Given the description of an element on the screen output the (x, y) to click on. 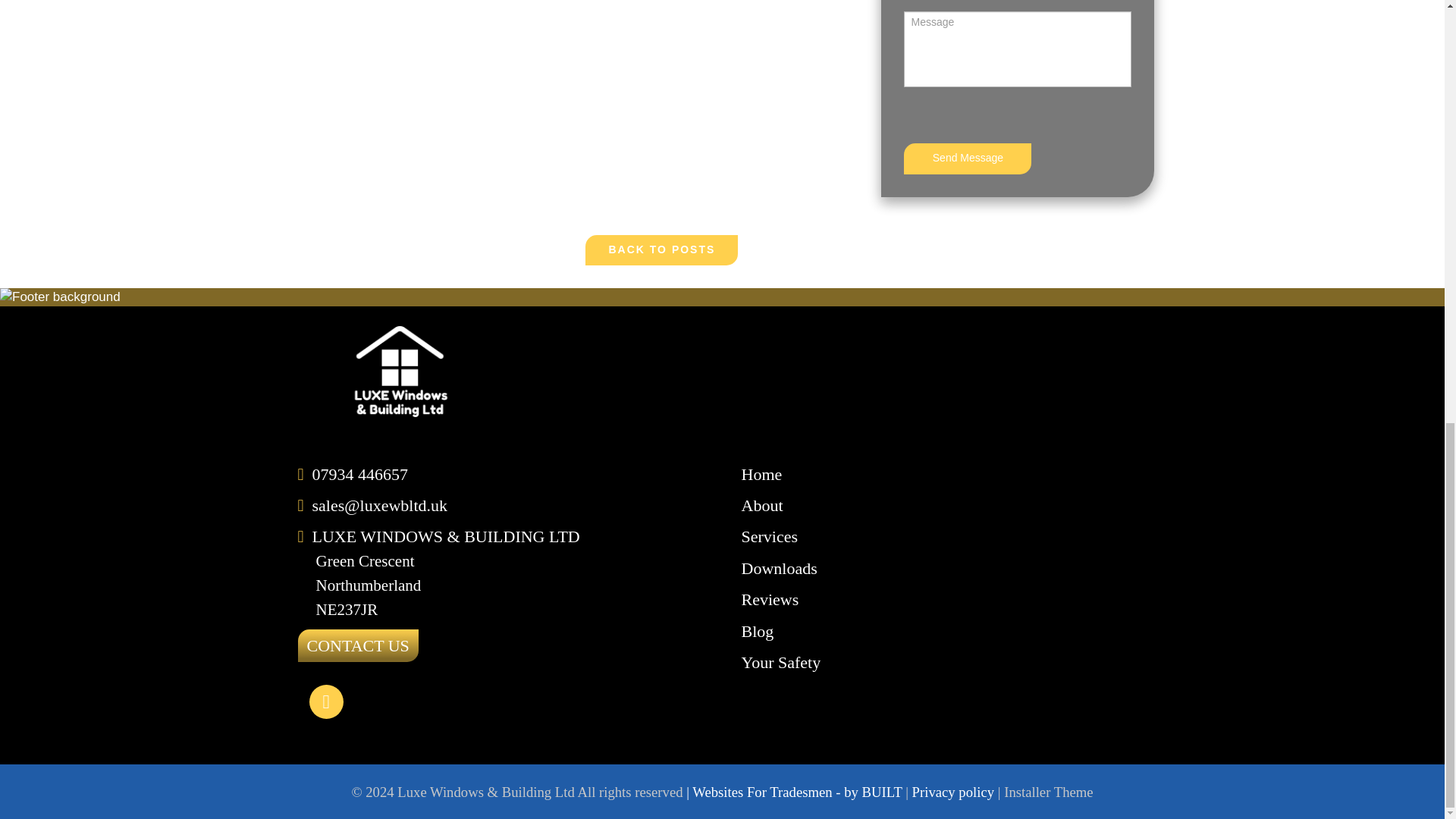
BACK TO POSTS (661, 250)
Send Message (967, 158)
Services (769, 536)
07934 446657 (361, 474)
Back to Posts (661, 250)
CONTACT US (357, 645)
Downloads (778, 568)
About (762, 505)
Home (762, 474)
